Given the description of an element on the screen output the (x, y) to click on. 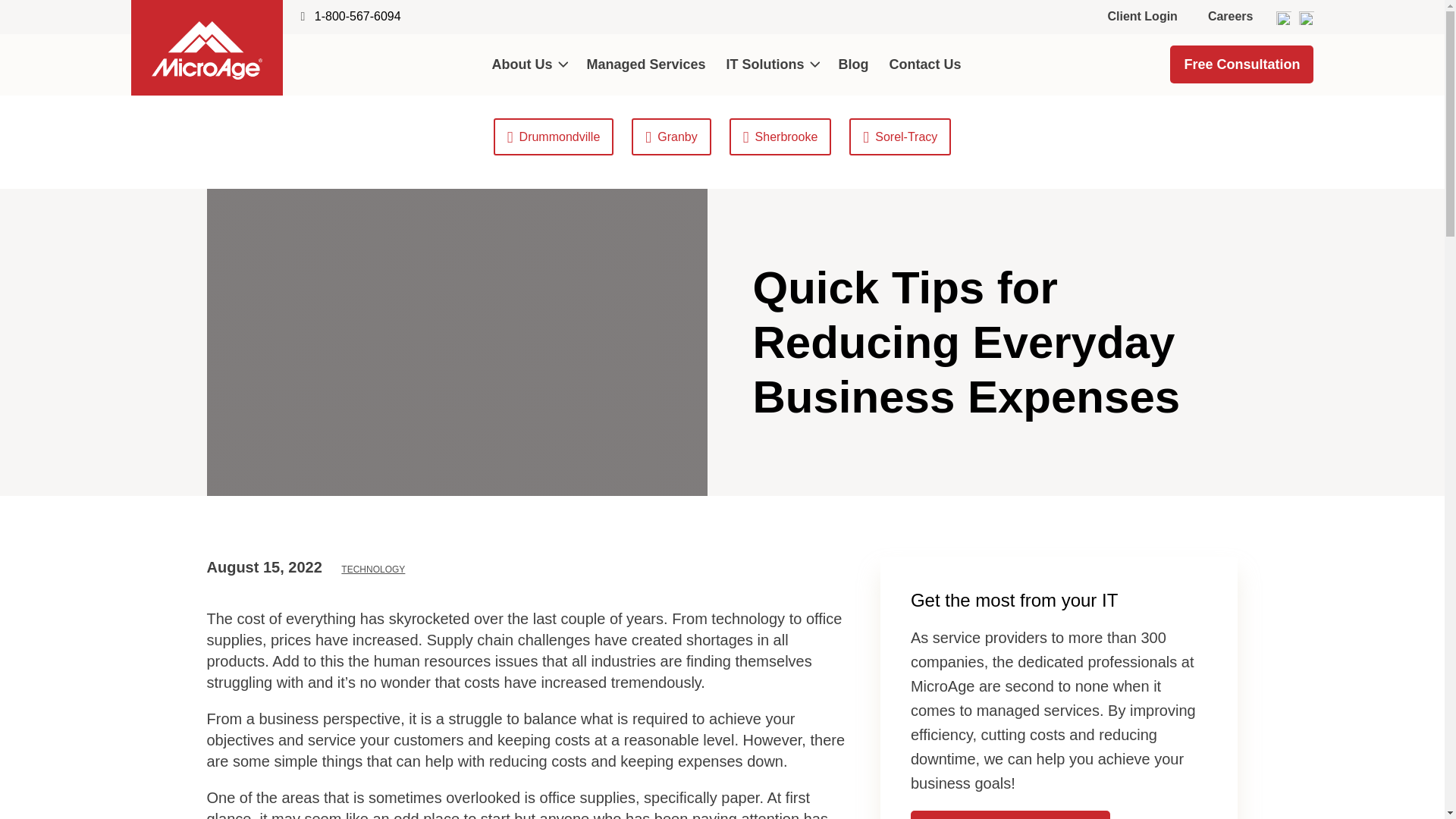
1-800-567-6094 (357, 15)
Sorel-Tracy (899, 136)
Free Consultation (1241, 64)
Blog (853, 64)
About Us (528, 64)
Managed Services (646, 64)
Careers (1230, 17)
Granby (670, 136)
Contact Us (925, 64)
Drummondville (553, 136)
